Given the description of an element on the screen output the (x, y) to click on. 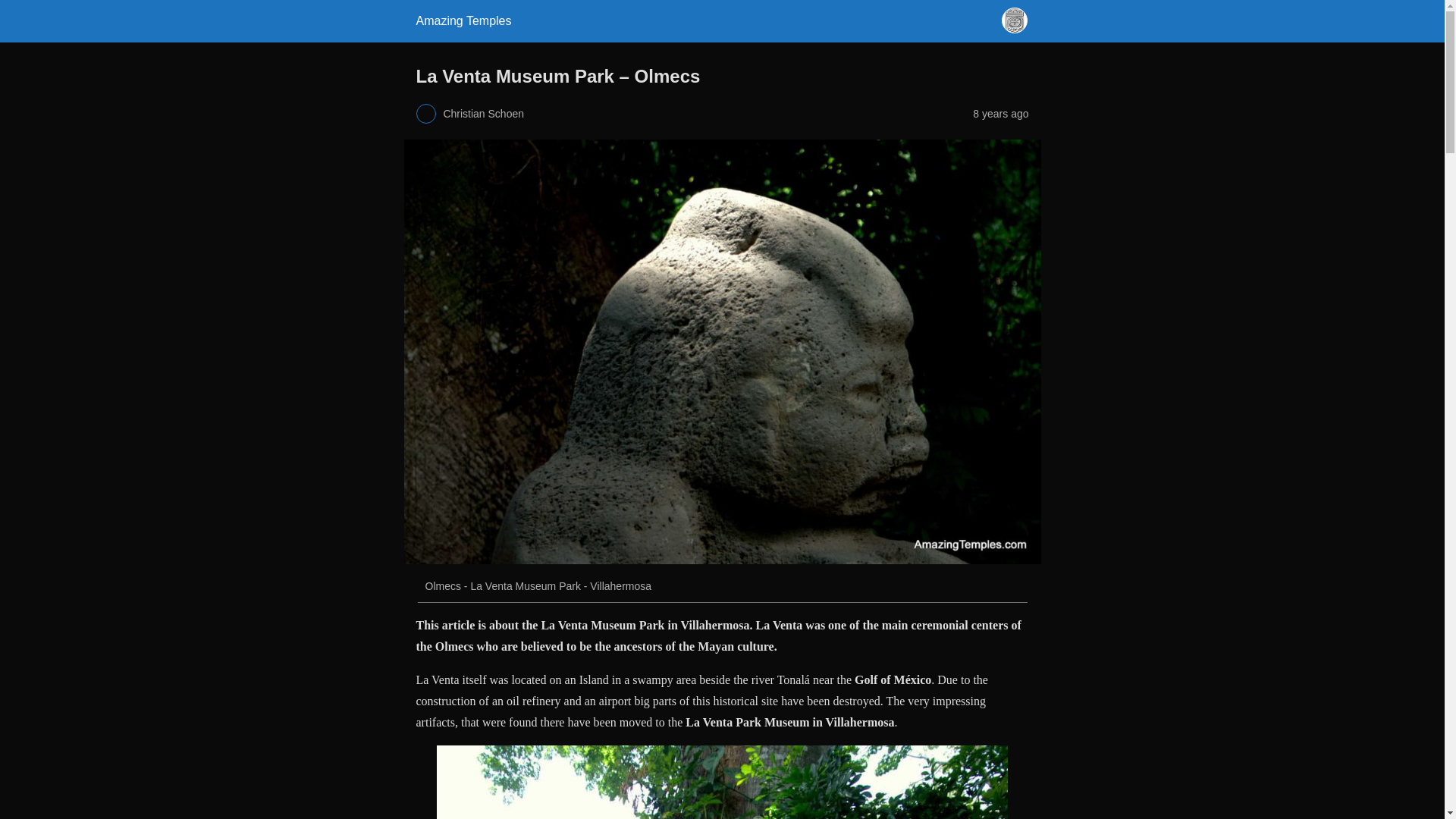
Amazing Temples (462, 20)
